Given the description of an element on the screen output the (x, y) to click on. 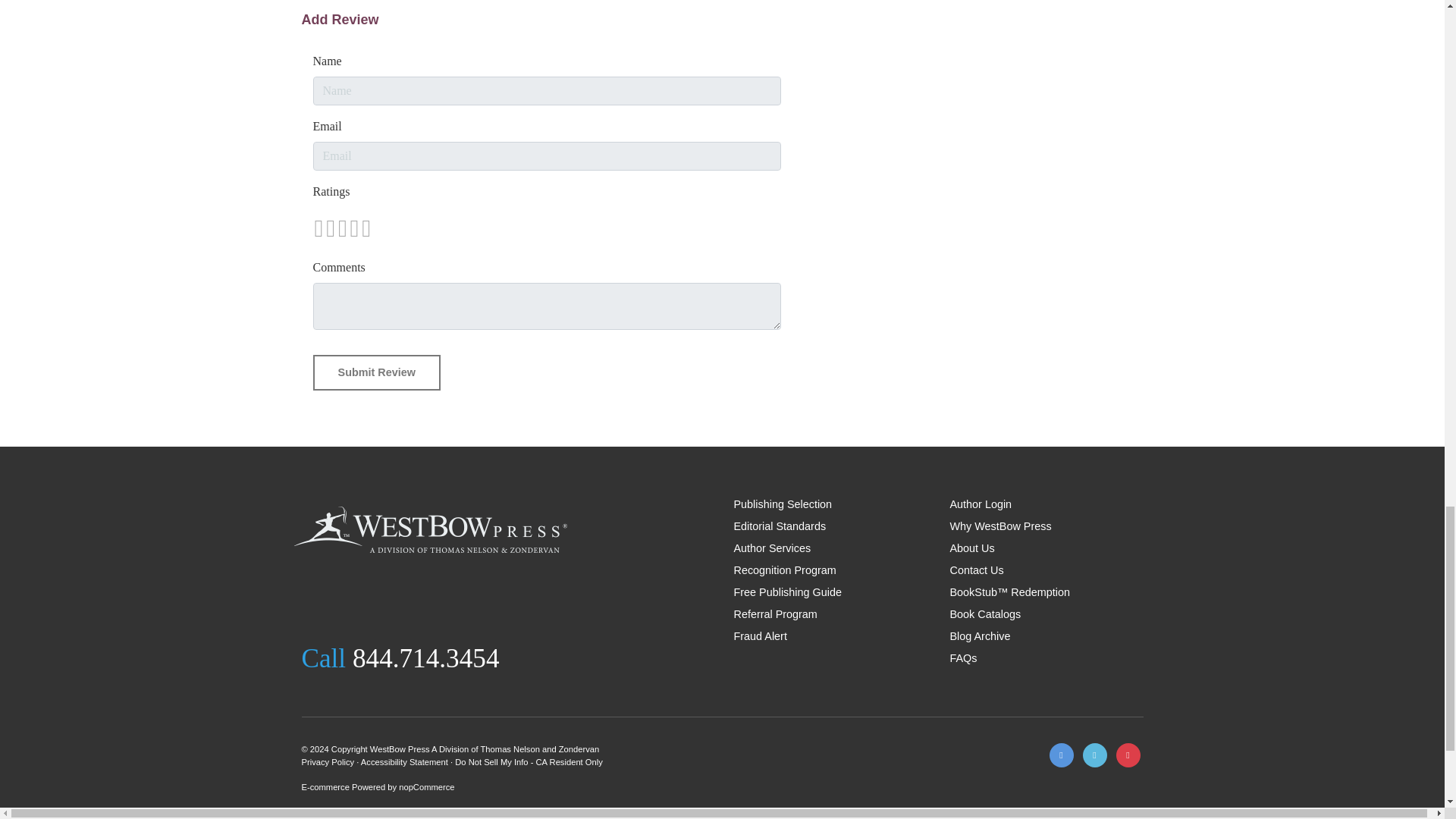
Editorial Standards (780, 526)
Publishing Selection (782, 503)
Submit Review (377, 372)
About Us (971, 548)
Author Services (771, 548)
Fraud Alert (760, 635)
Free Publishing Guide (787, 592)
Not Rated (342, 227)
Do Not Sell My Info - CA Resident Only (528, 761)
Submit Review (377, 372)
Recognition Program (784, 570)
Contact Us (976, 570)
Why WestBow Press (1000, 526)
Author Login (980, 503)
Referral Program (774, 613)
